Given the description of an element on the screen output the (x, y) to click on. 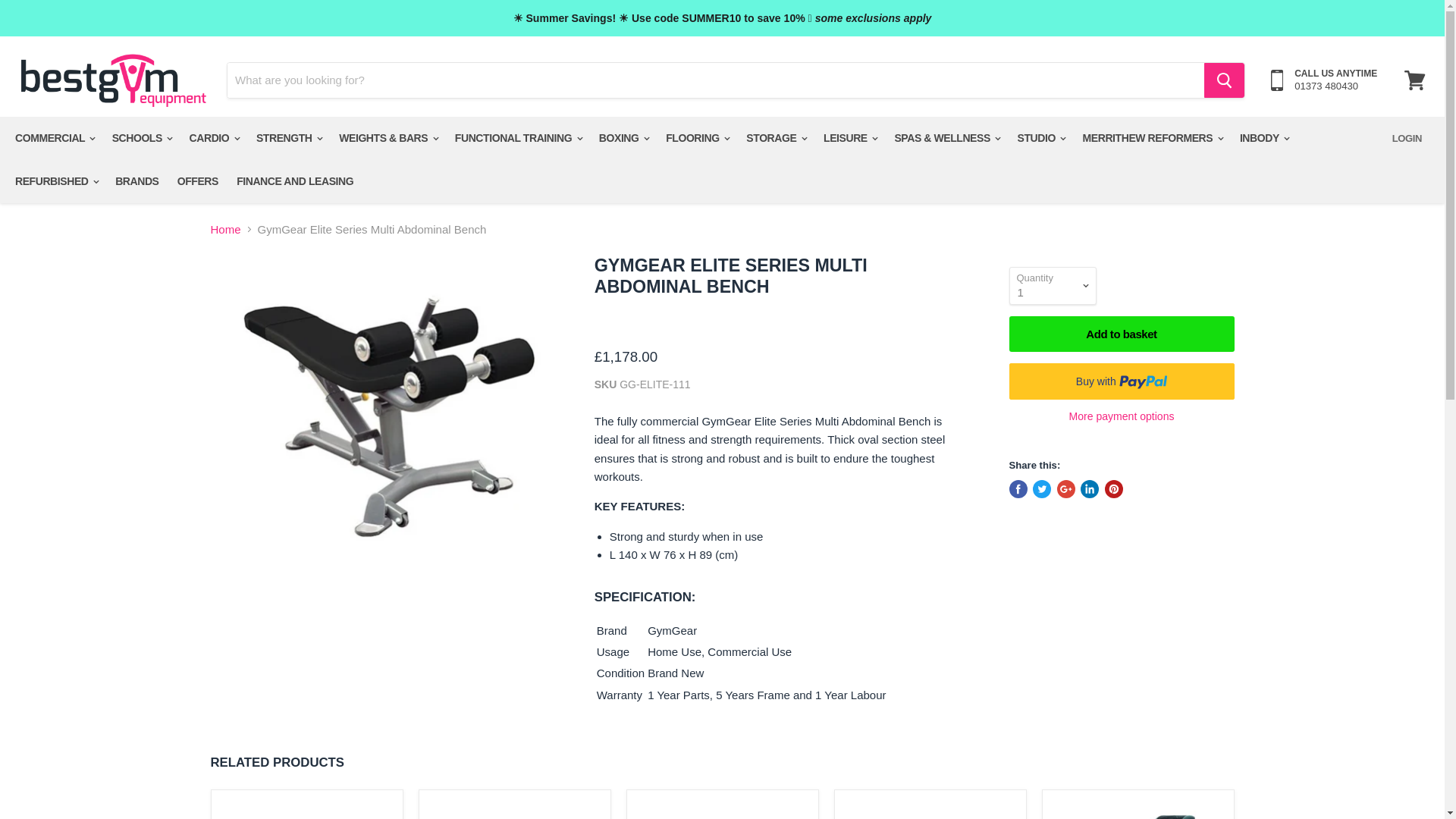
View basket (1414, 80)
CARDIO (214, 137)
COMMERCIAL (53, 137)
SCHOOLS (141, 137)
